Given the description of an element on the screen output the (x, y) to click on. 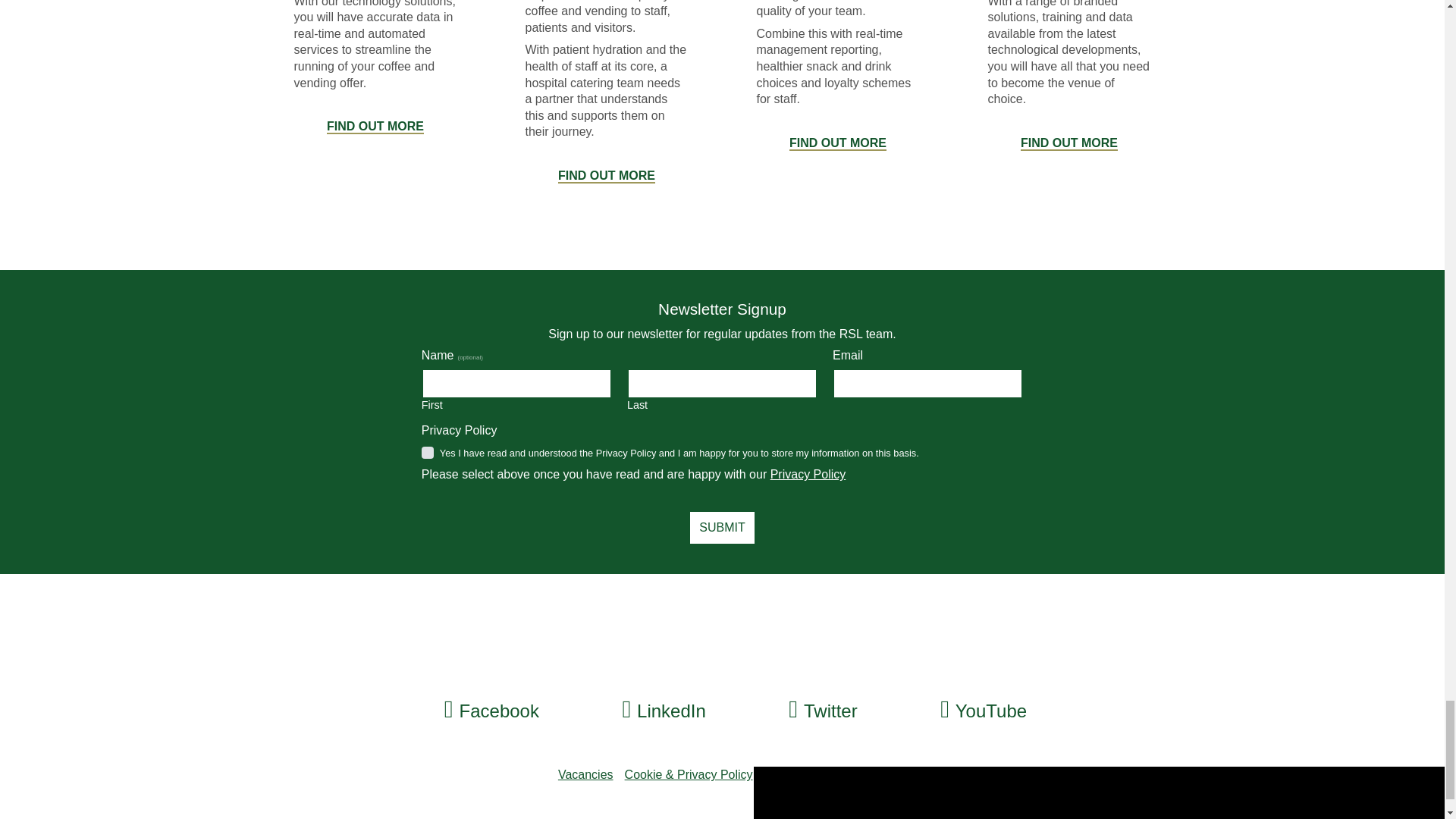
Submit (722, 527)
